Given the description of an element on the screen output the (x, y) to click on. 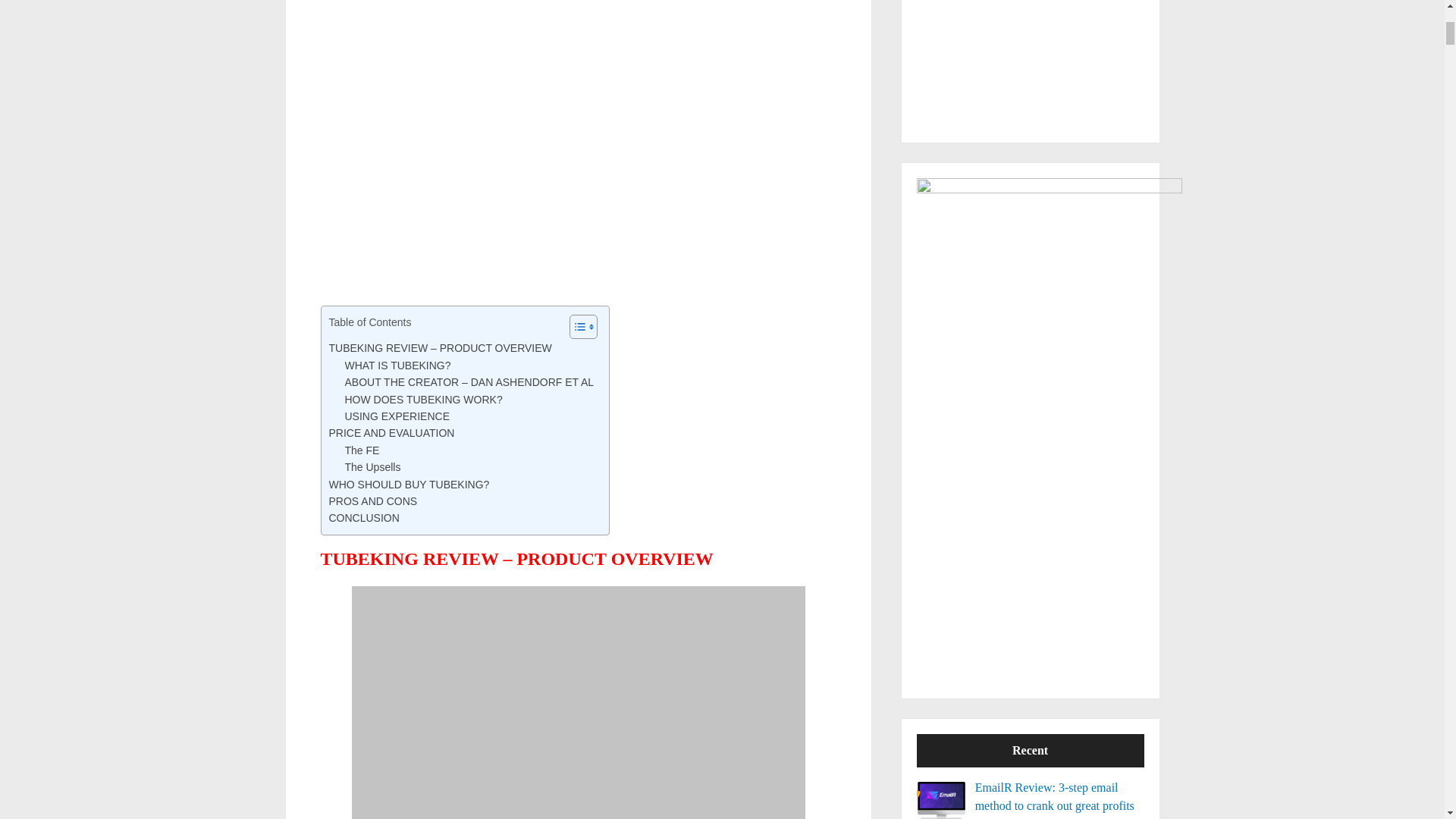
HOW DOES TUBEKING WORK? (422, 399)
WHO SHOULD BUY TUBEKING? (409, 484)
The FE (360, 450)
USING EXPERIENCE (395, 416)
The Upsells (371, 466)
CONCLUSION (363, 517)
PRICE AND EVALUATION (391, 433)
PROS AND CONS (373, 501)
WHAT IS TUBEKING? (396, 365)
